Given the description of an element on the screen output the (x, y) to click on. 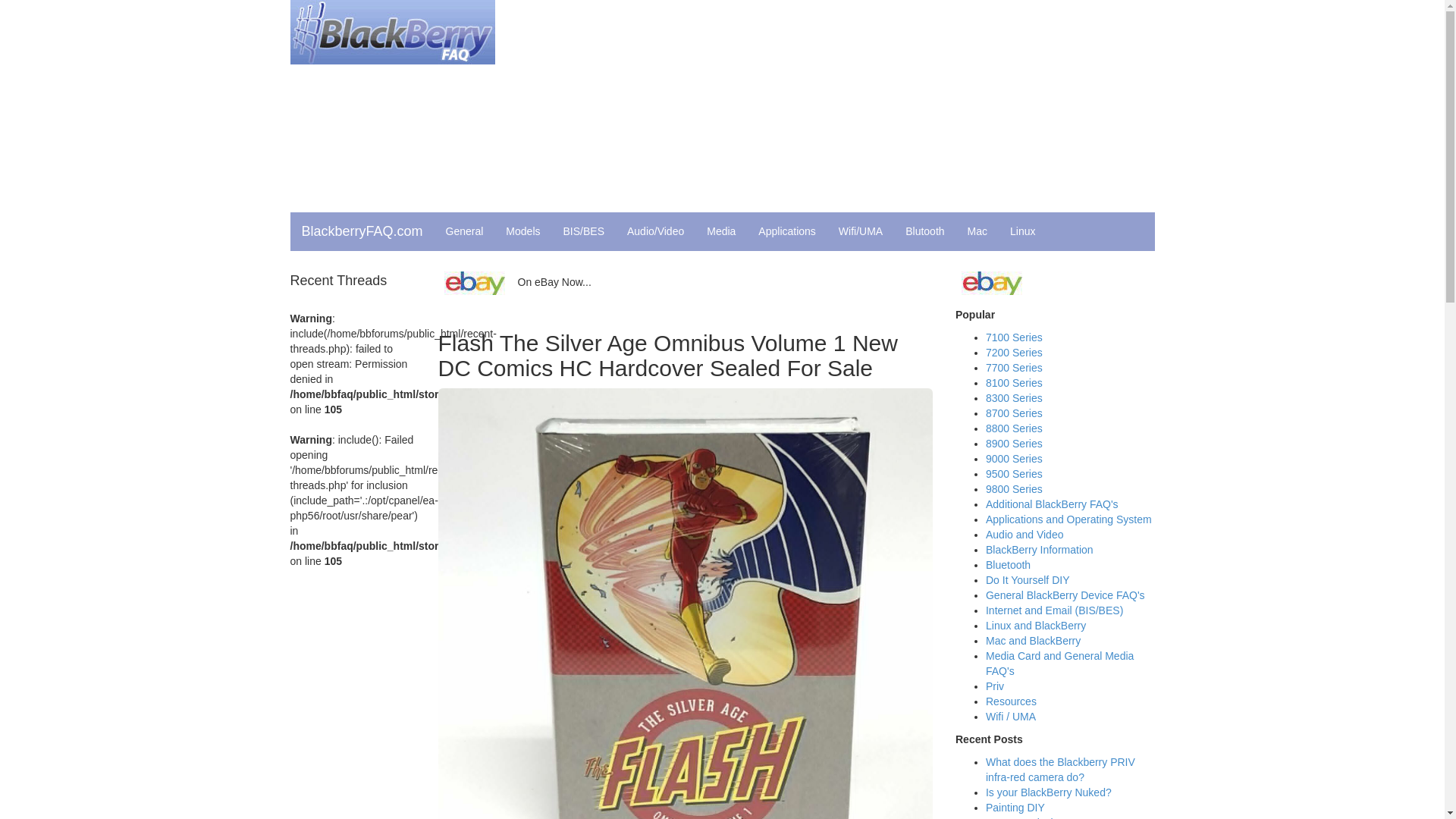
Resources (1010, 701)
Applications (786, 231)
9000 Series (1013, 458)
Audio and Video (1024, 534)
7100 Series (1013, 337)
General (464, 231)
8700 Series (1013, 413)
Additional BlackBerry FAQ's (1051, 503)
Models (523, 231)
Bluetooth (1007, 564)
